Given the description of an element on the screen output the (x, y) to click on. 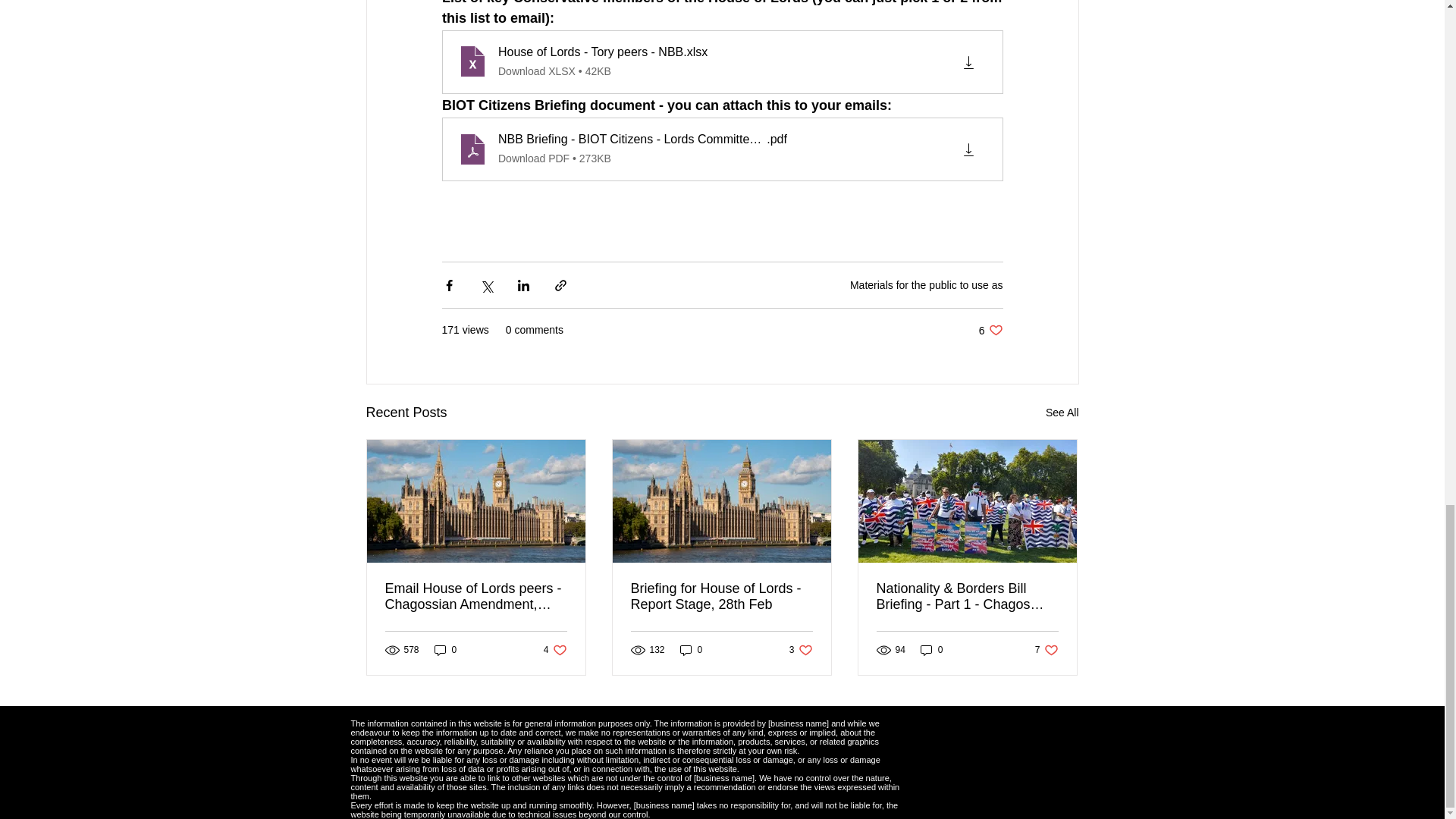
0 (990, 329)
See All (555, 649)
Materials for the public to use as (931, 649)
Briefing for House of Lords - Report Stage, 28th Feb (800, 649)
0 (1061, 413)
